Given the description of an element on the screen output the (x, y) to click on. 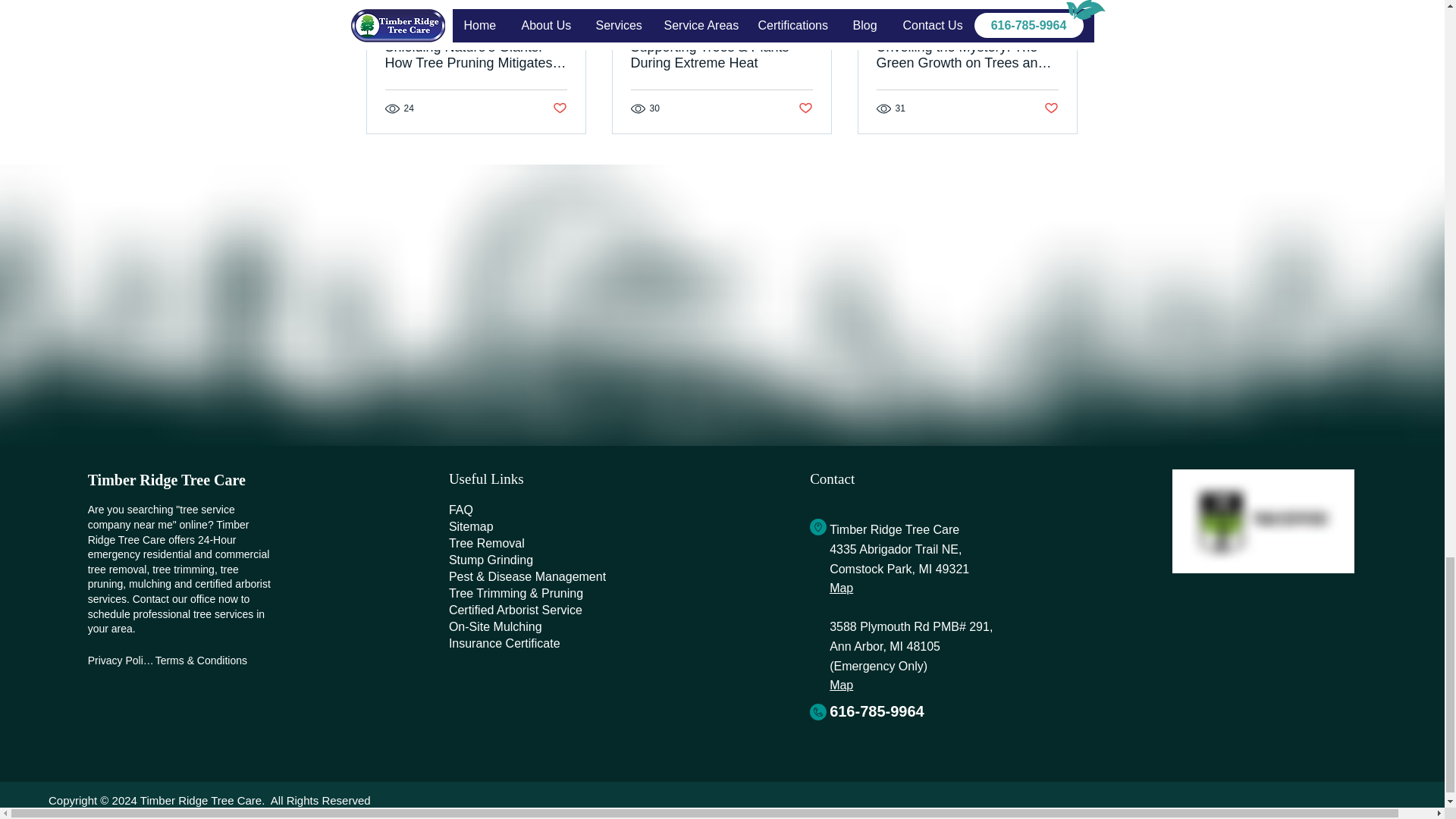
Post not marked as liked (558, 108)
